Given the description of an element on the screen output the (x, y) to click on. 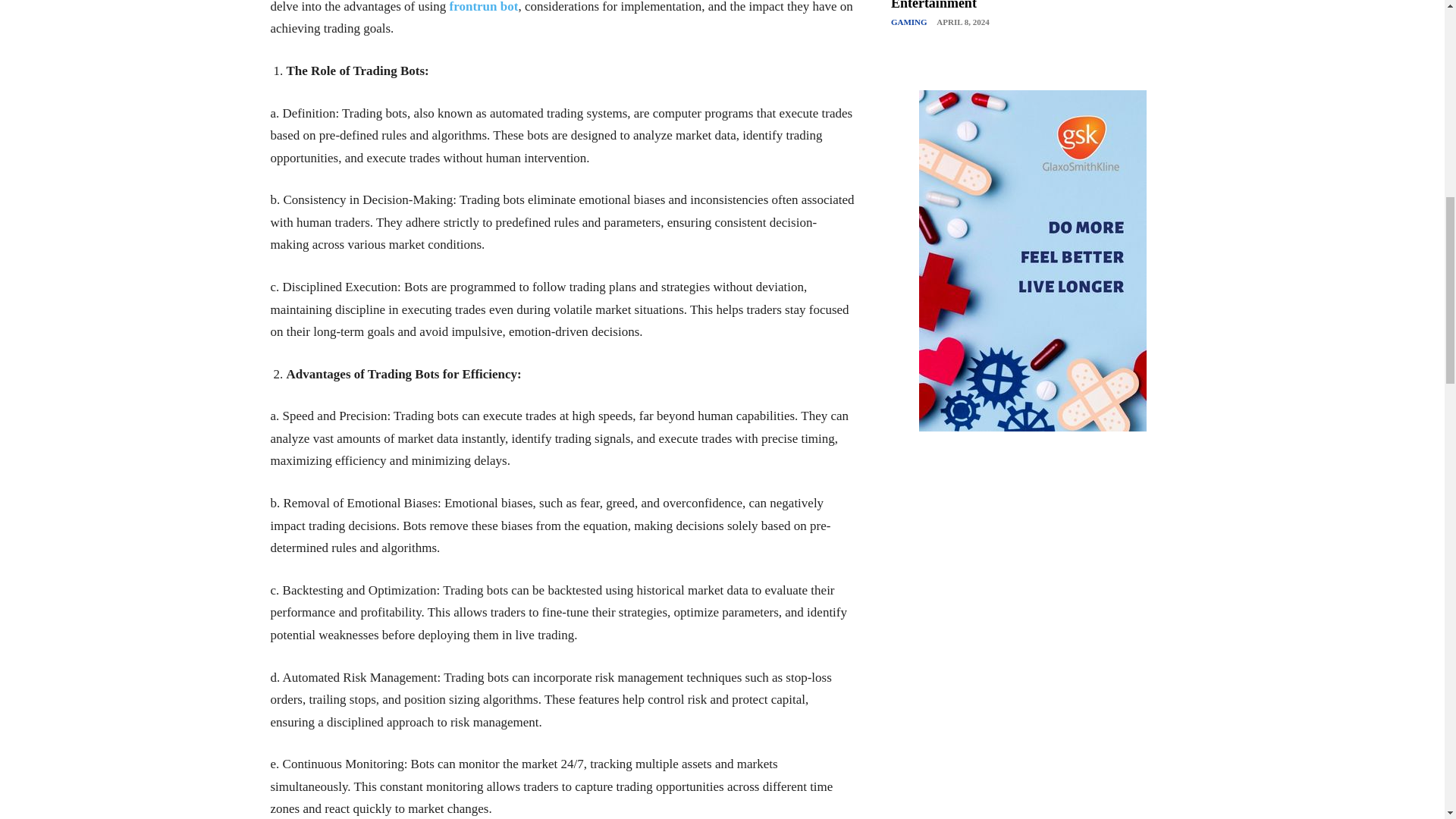
frontrun bot (483, 6)
